Given the description of an element on the screen output the (x, y) to click on. 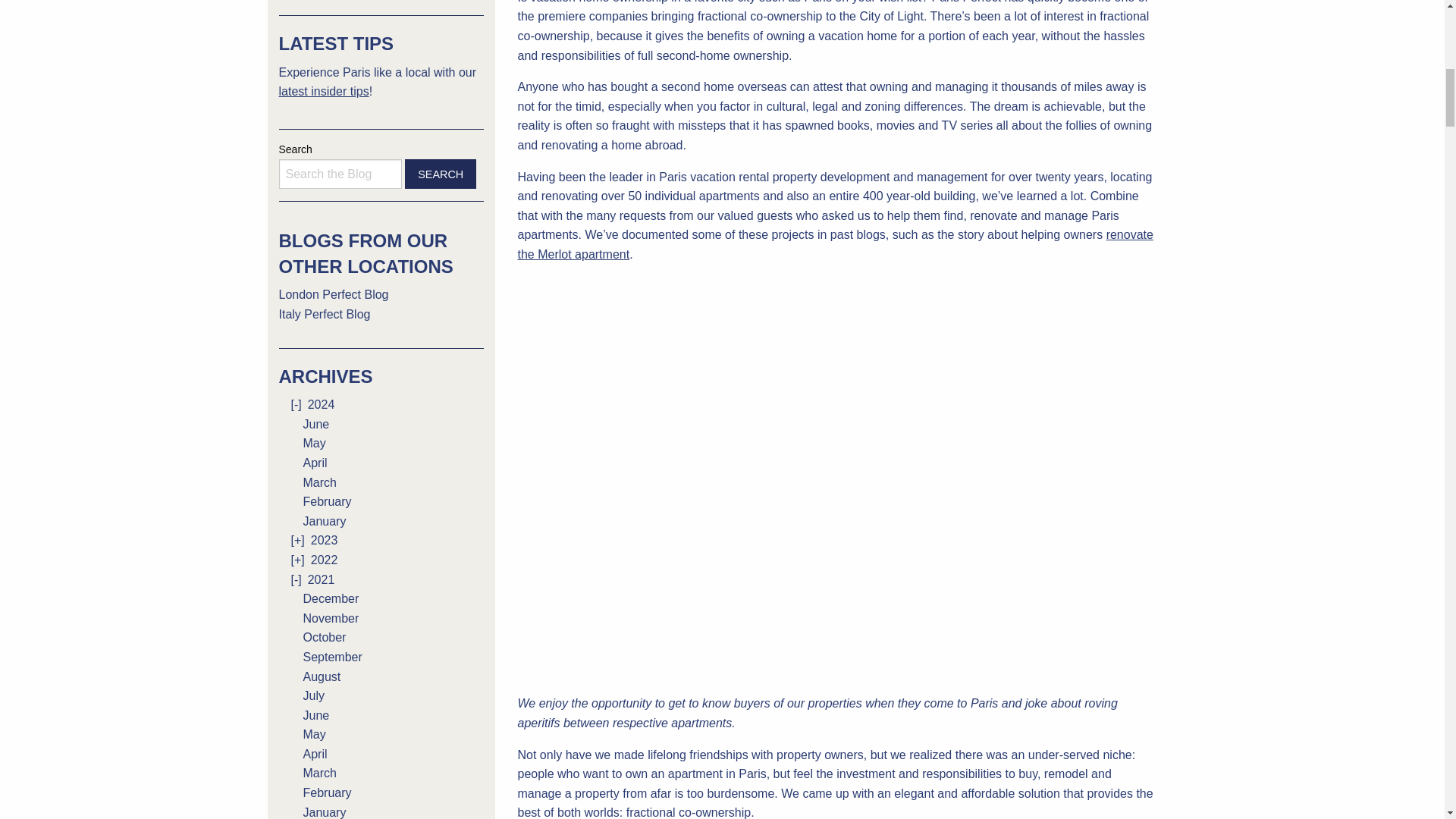
Search (440, 173)
